Given the description of an element on the screen output the (x, y) to click on. 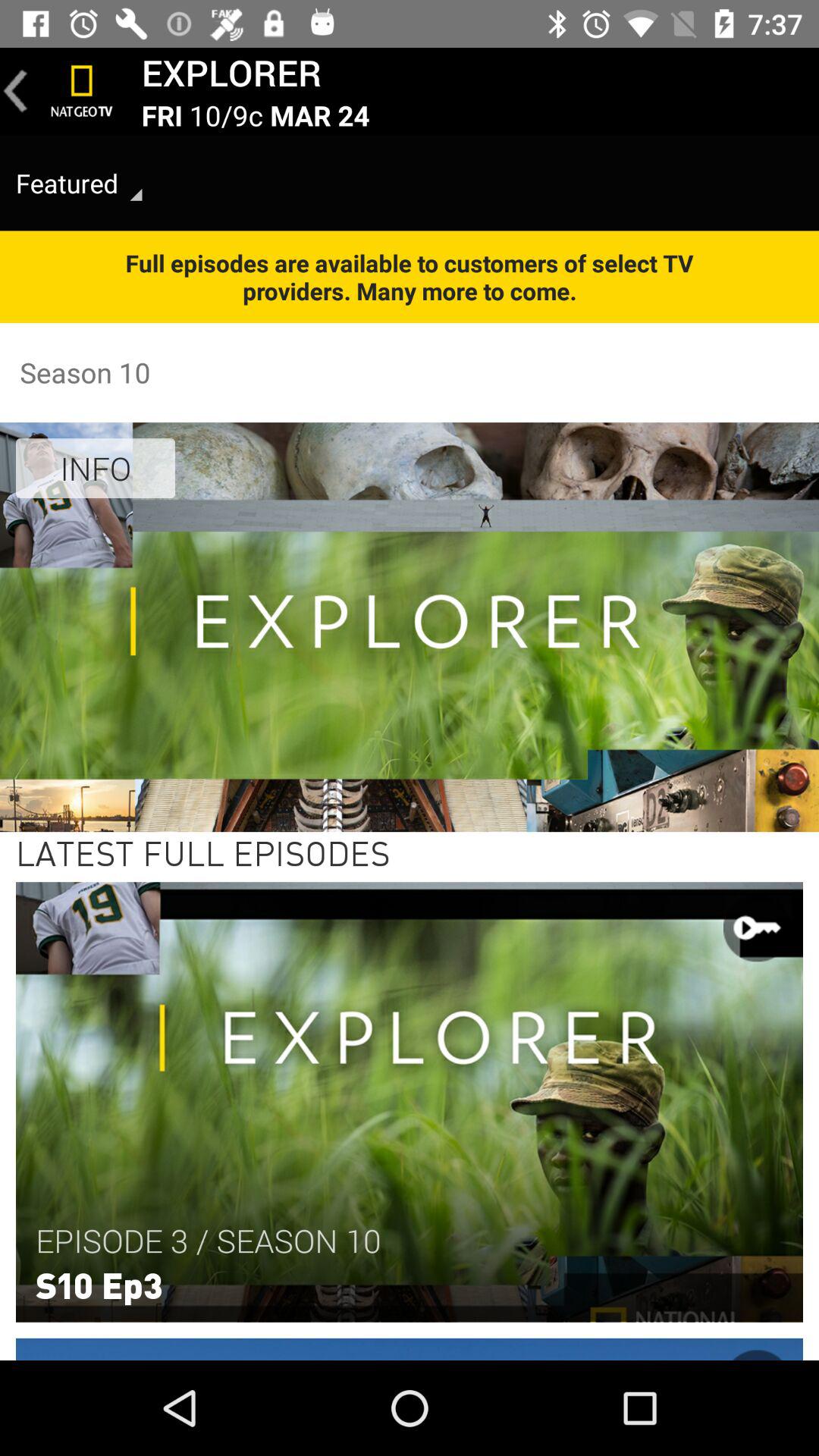
go to previous (15, 90)
